Given the description of an element on the screen output the (x, y) to click on. 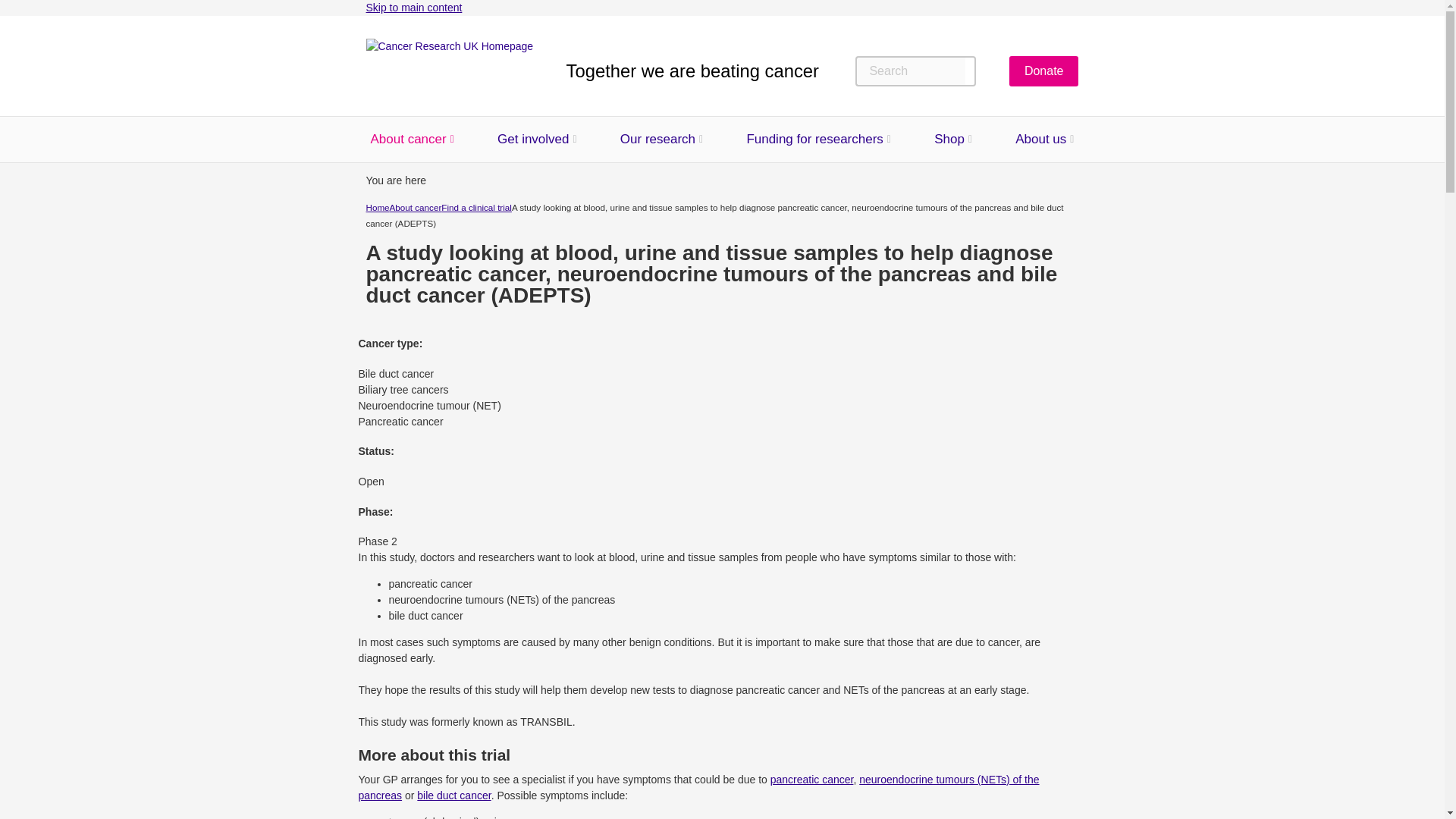
About cancer (407, 139)
Skip to main content (413, 7)
Donate (1043, 71)
Get involved (533, 139)
Cancer Research UK Homepage (448, 70)
